Given the description of an element on the screen output the (x, y) to click on. 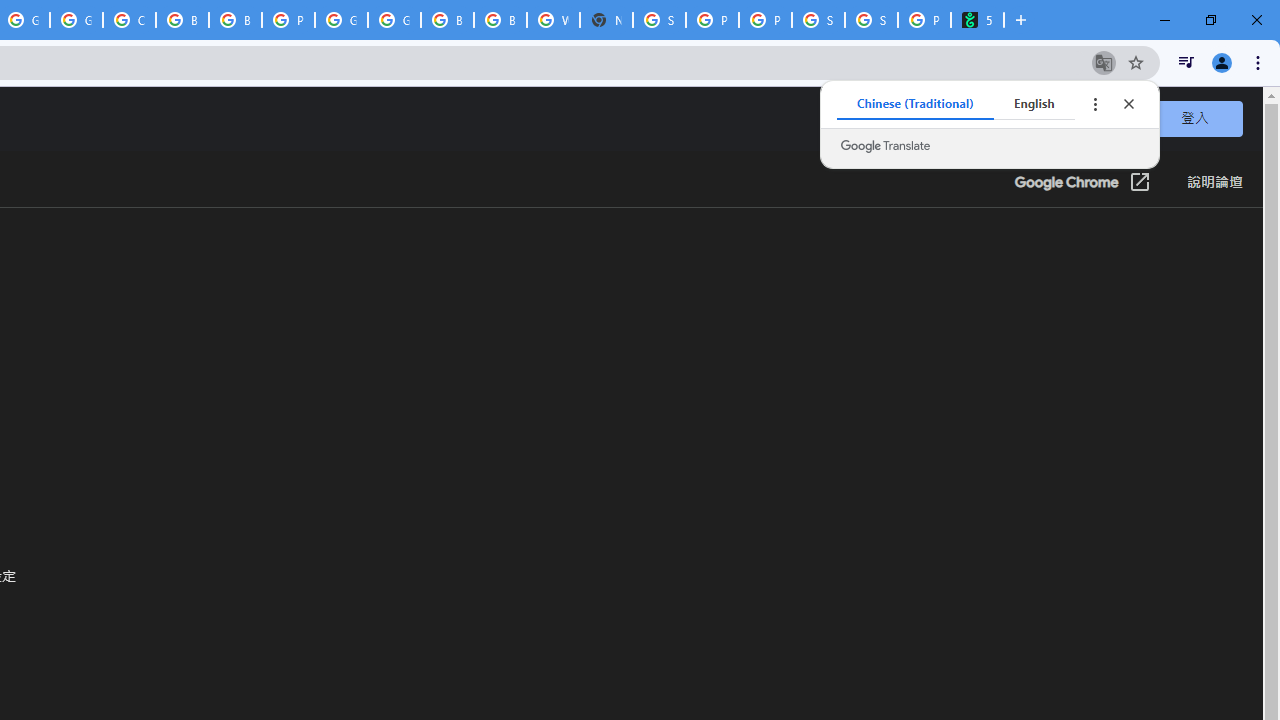
Chinese (Traditional) (915, 103)
Google Cloud Platform (394, 20)
Browse Chrome as a guest - Computer - Google Chrome Help (447, 20)
Google Cloud Platform (341, 20)
